Given the description of an element on the screen output the (x, y) to click on. 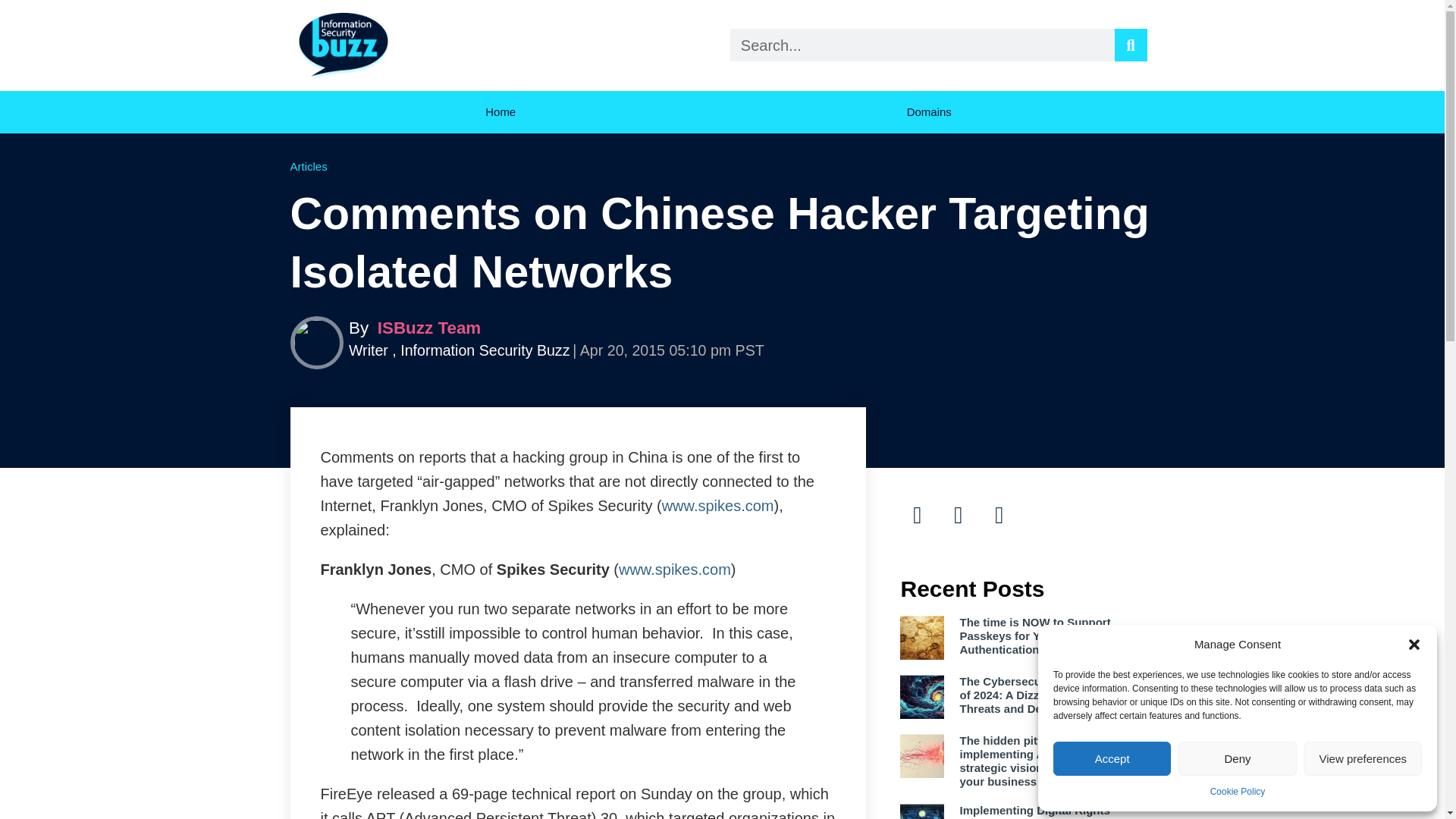
Cookie Policy (1237, 791)
View preferences (1363, 758)
Deny (1236, 758)
Home (499, 111)
Accept (1111, 758)
Domains (932, 111)
